Given the description of an element on the screen output the (x, y) to click on. 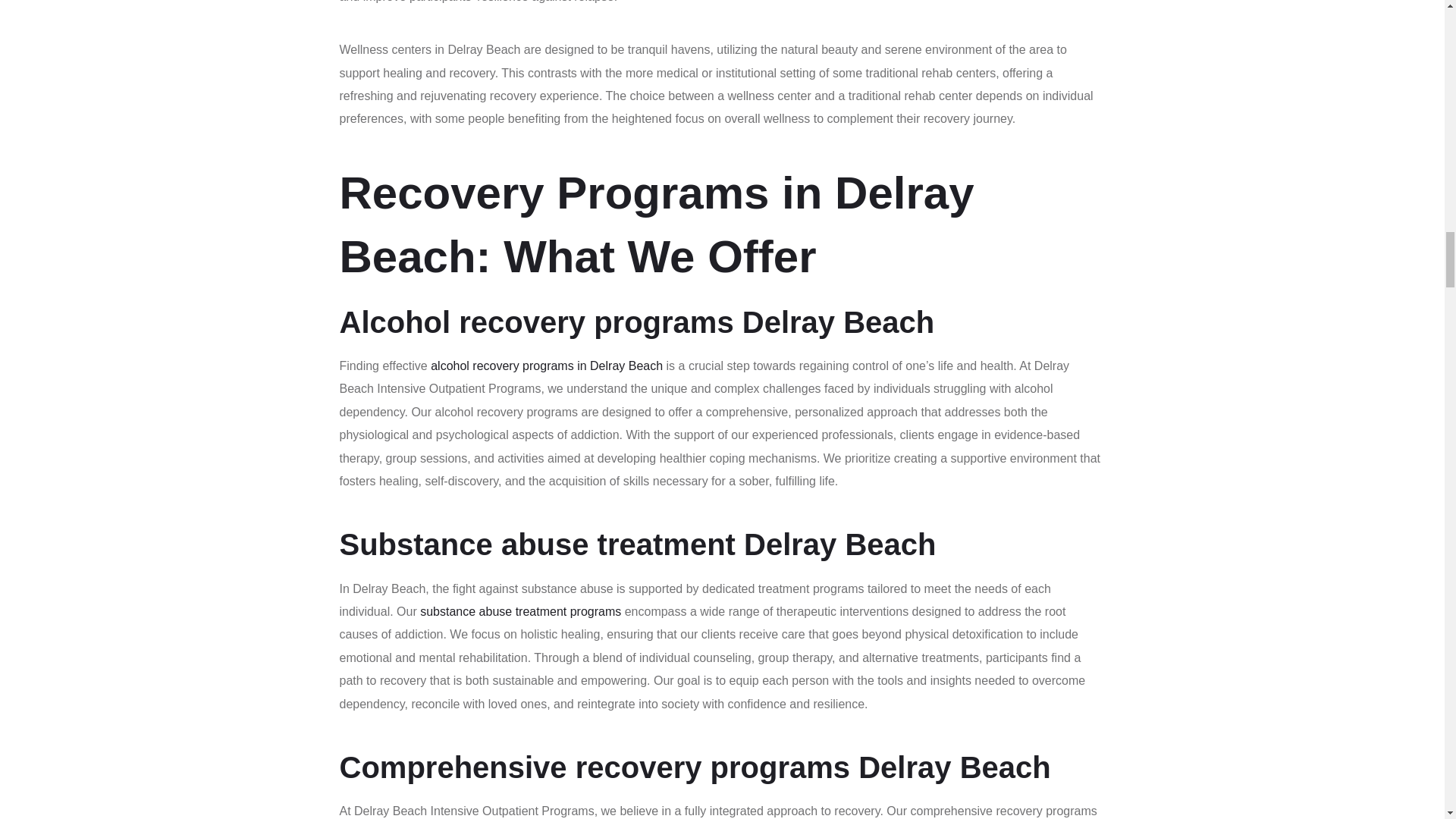
substance abuse treatment programs (520, 611)
alcohol recovery programs in Delray Beach (546, 365)
